Given the description of an element on the screen output the (x, y) to click on. 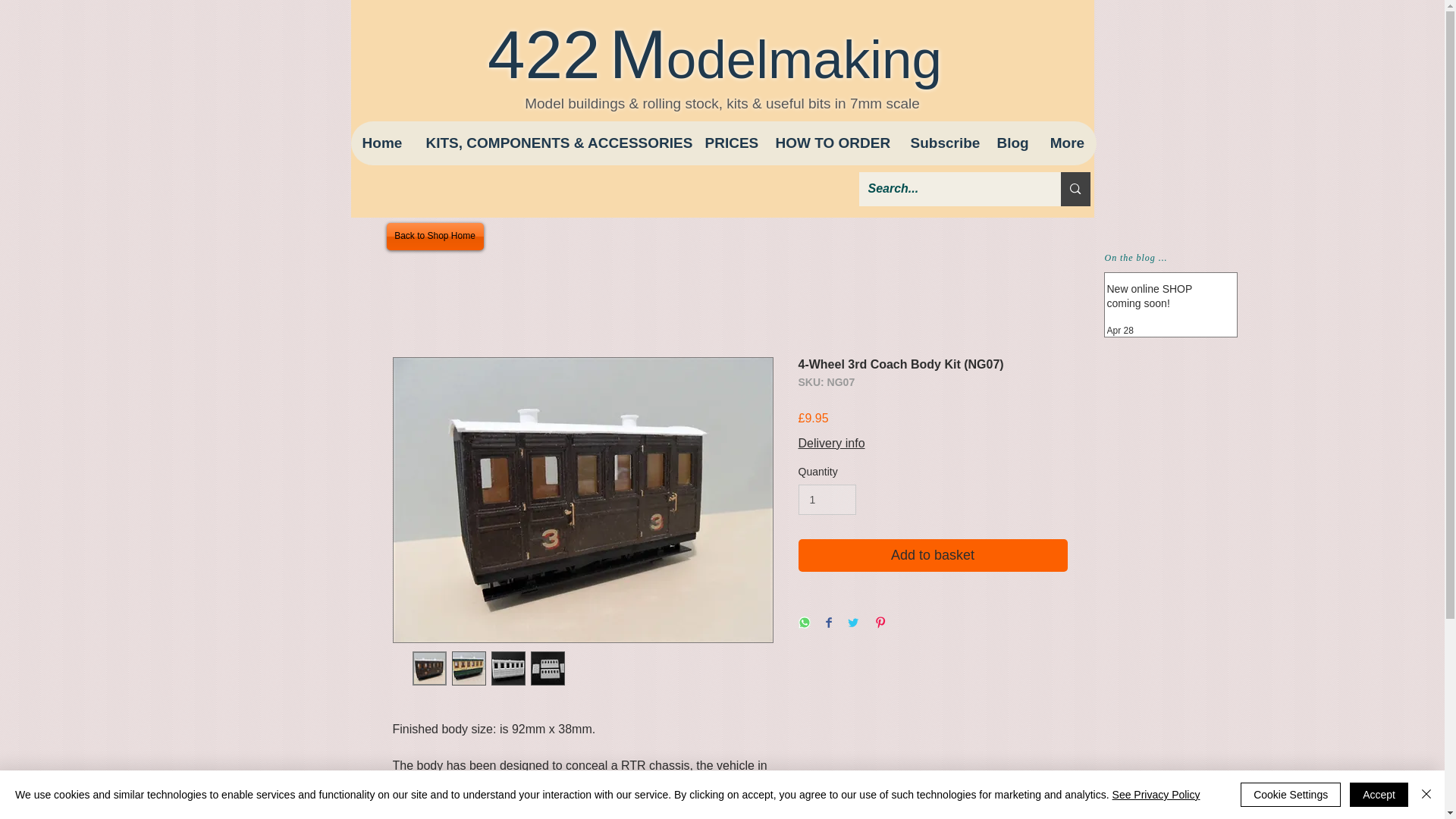
Home (381, 143)
Subscribe (941, 143)
Add to basket (932, 554)
Back to Shop Home (435, 236)
New online SHOP coming soon! (1165, 299)
Cookie Settings (1290, 794)
HOW TO ORDER (830, 143)
Apr 28 (1120, 330)
Blog (1010, 143)
See Privacy Policy (1155, 794)
1 (826, 499)
PRICES (727, 143)
Accept (1378, 794)
Delivery info (830, 443)
